Given the description of an element on the screen output the (x, y) to click on. 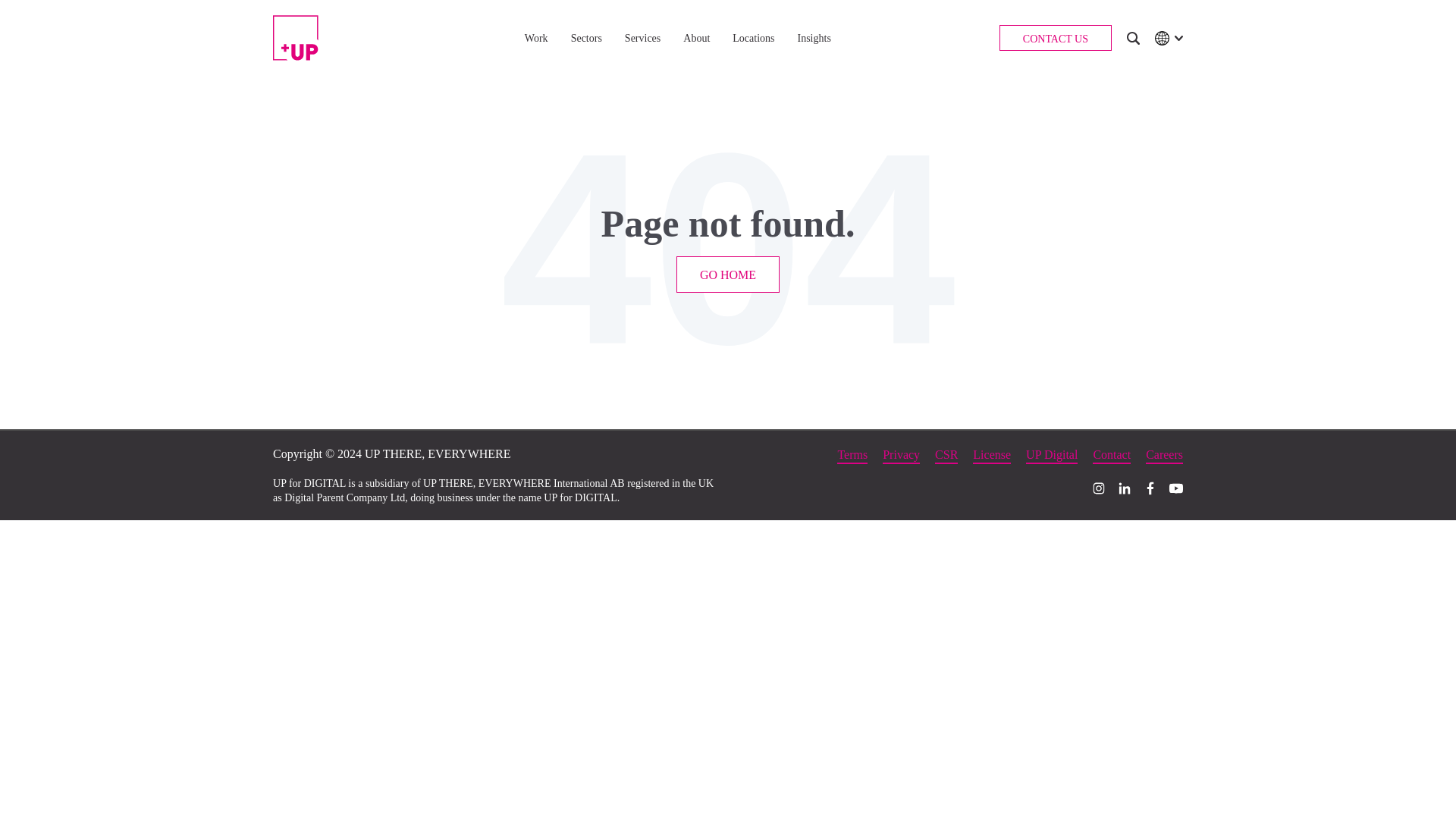
Services (642, 38)
Work (536, 38)
Search (1133, 38)
Sectors (586, 38)
About (696, 38)
Global (1161, 37)
